Given the description of an element on the screen output the (x, y) to click on. 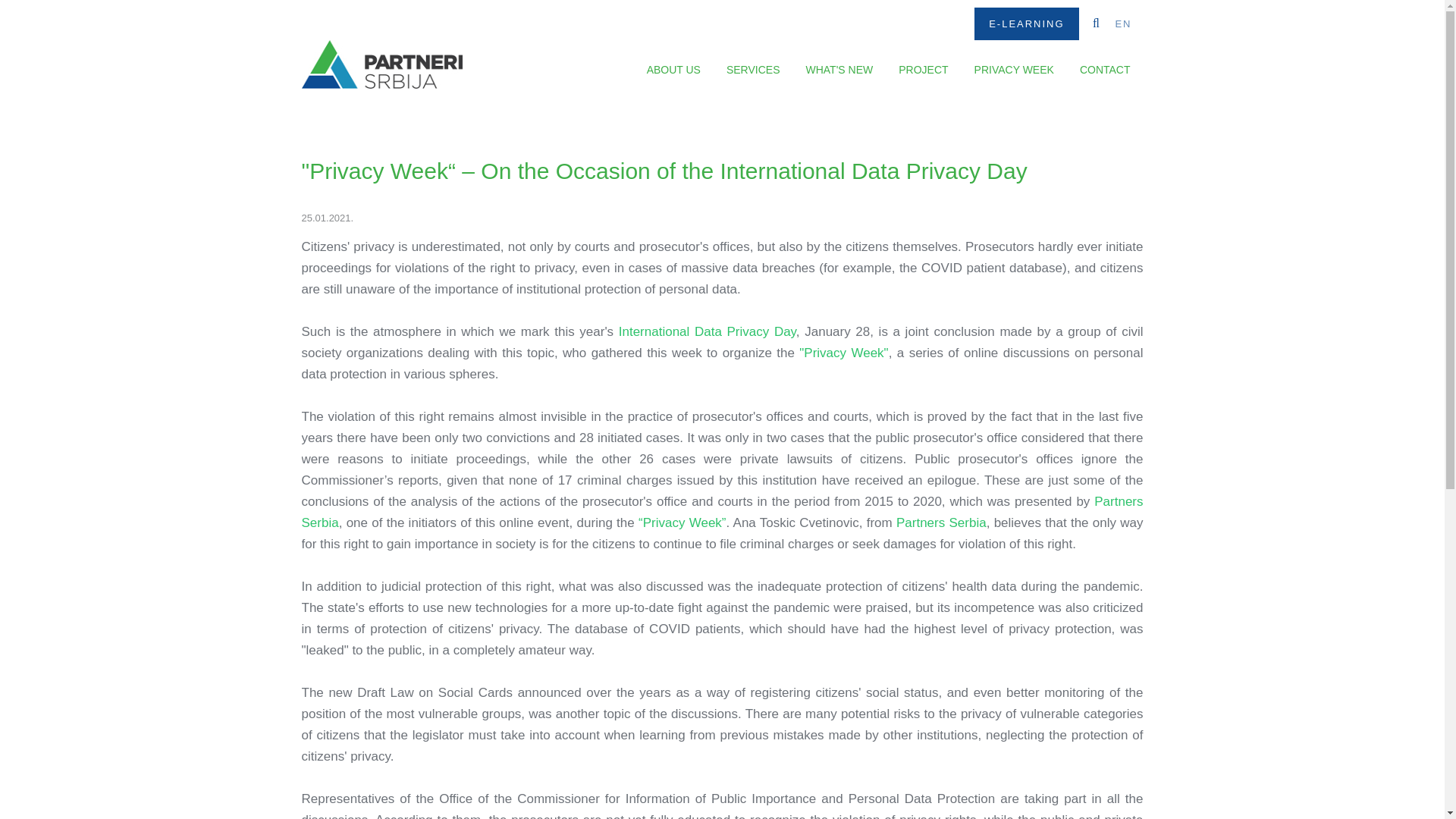
WHAT'S NEW (838, 69)
EN (1127, 24)
ABOUT US (673, 69)
SERVICES (753, 69)
PROJECT (922, 69)
E-LEARNING (1026, 23)
